Given the description of an element on the screen output the (x, y) to click on. 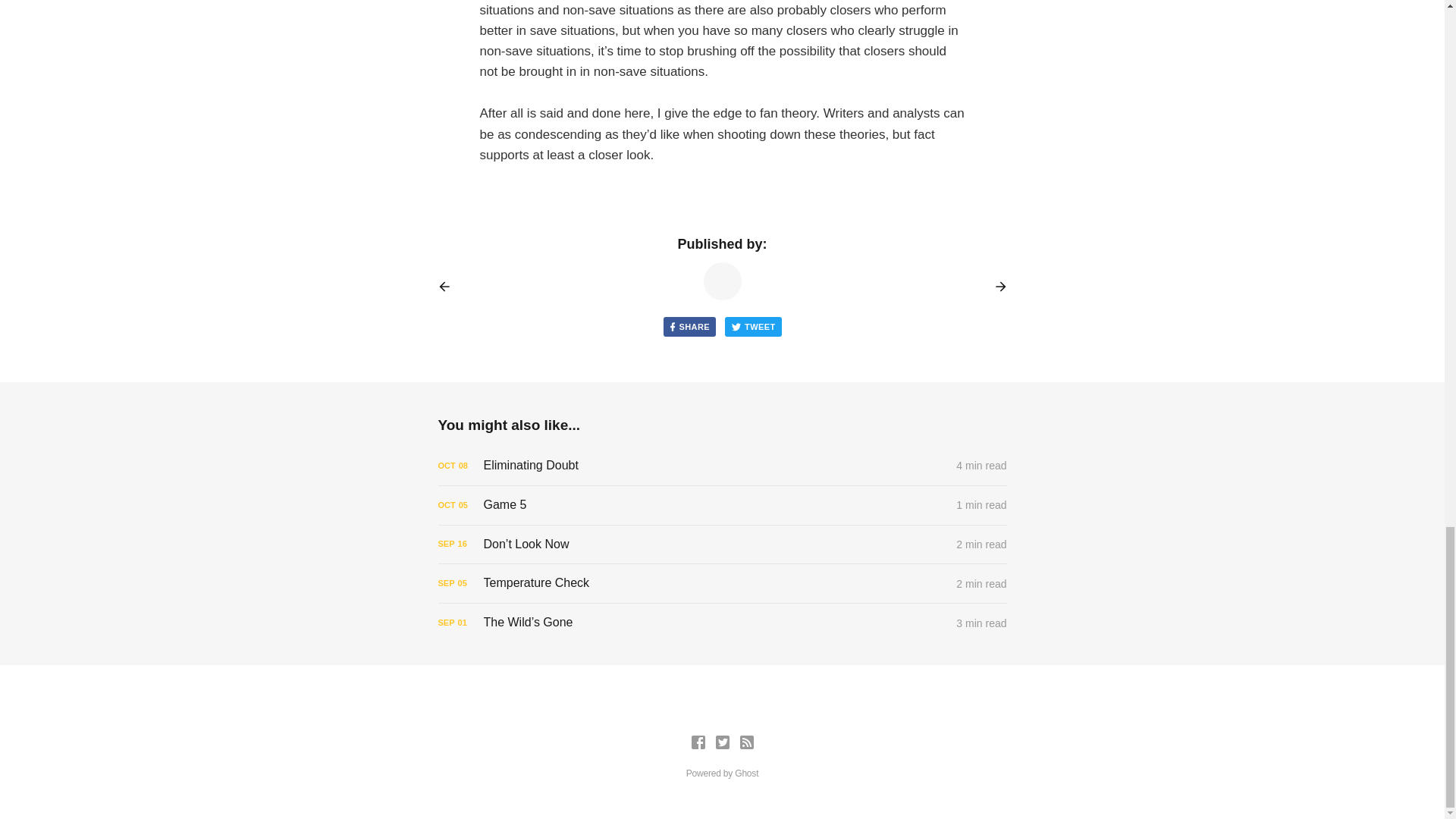
SHARE (689, 326)
TWEET (753, 326)
Ghost (746, 773)
